Given the description of an element on the screen output the (x, y) to click on. 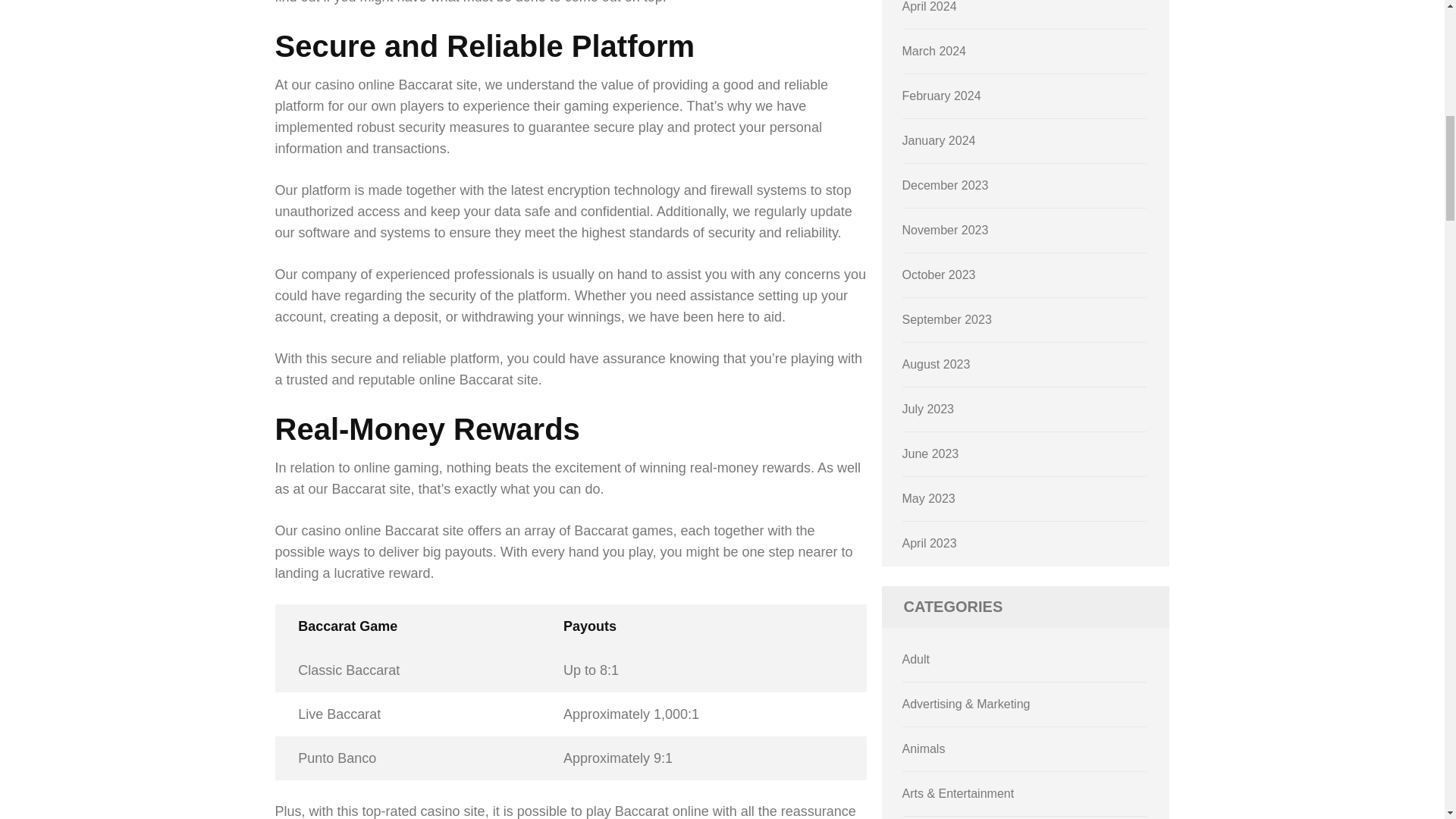
February 2024 (941, 95)
June 2023 (930, 453)
July 2023 (928, 408)
December 2023 (945, 185)
May 2023 (928, 498)
January 2024 (938, 140)
April 2024 (929, 6)
September 2023 (946, 318)
March 2024 (934, 51)
April 2023 (929, 543)
Adult (916, 658)
October 2023 (938, 274)
November 2023 (945, 229)
August 2023 (936, 364)
